Given the description of an element on the screen output the (x, y) to click on. 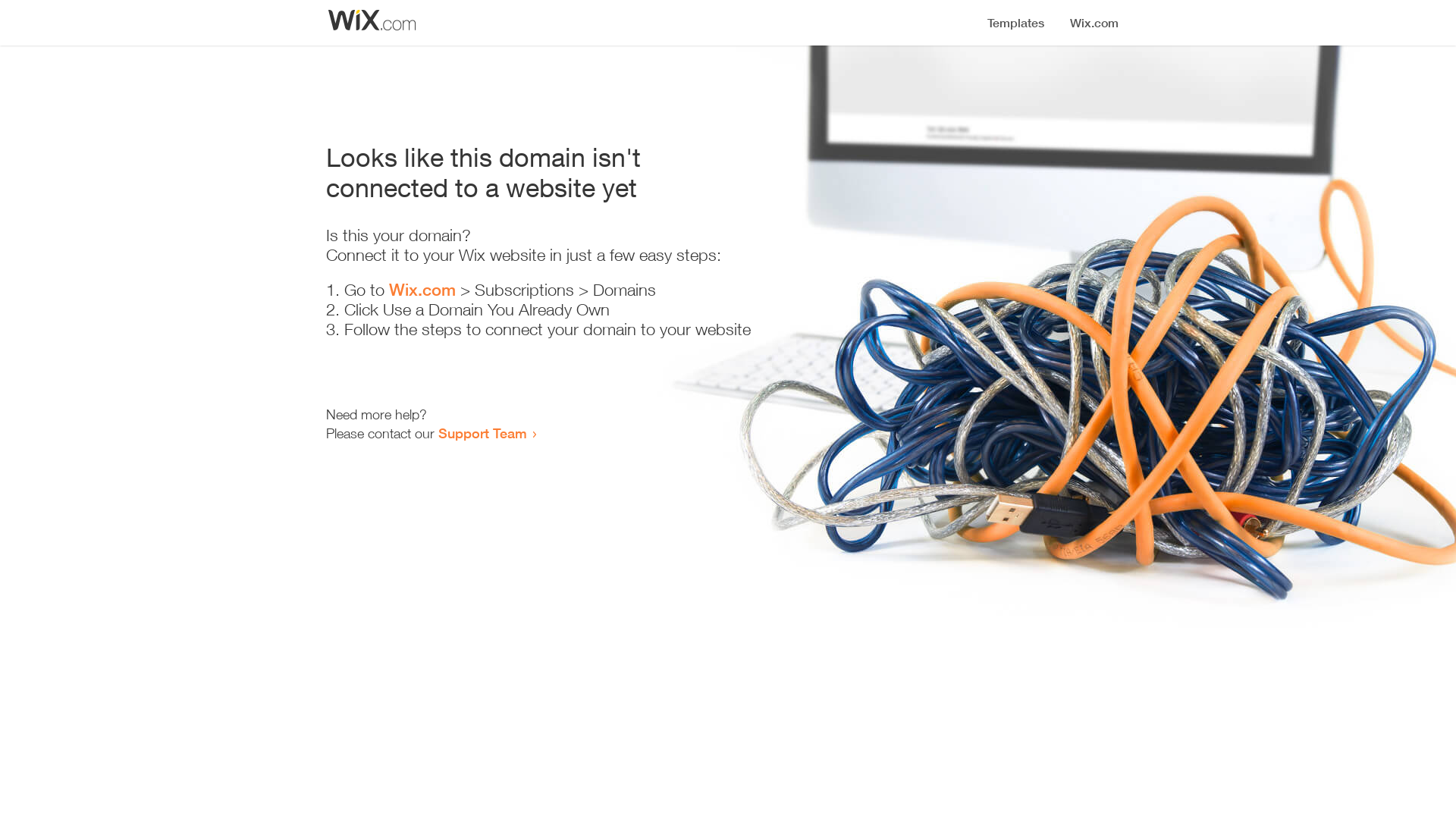
Wix.com Element type: text (422, 289)
Support Team Element type: text (482, 432)
